Given the description of an element on the screen output the (x, y) to click on. 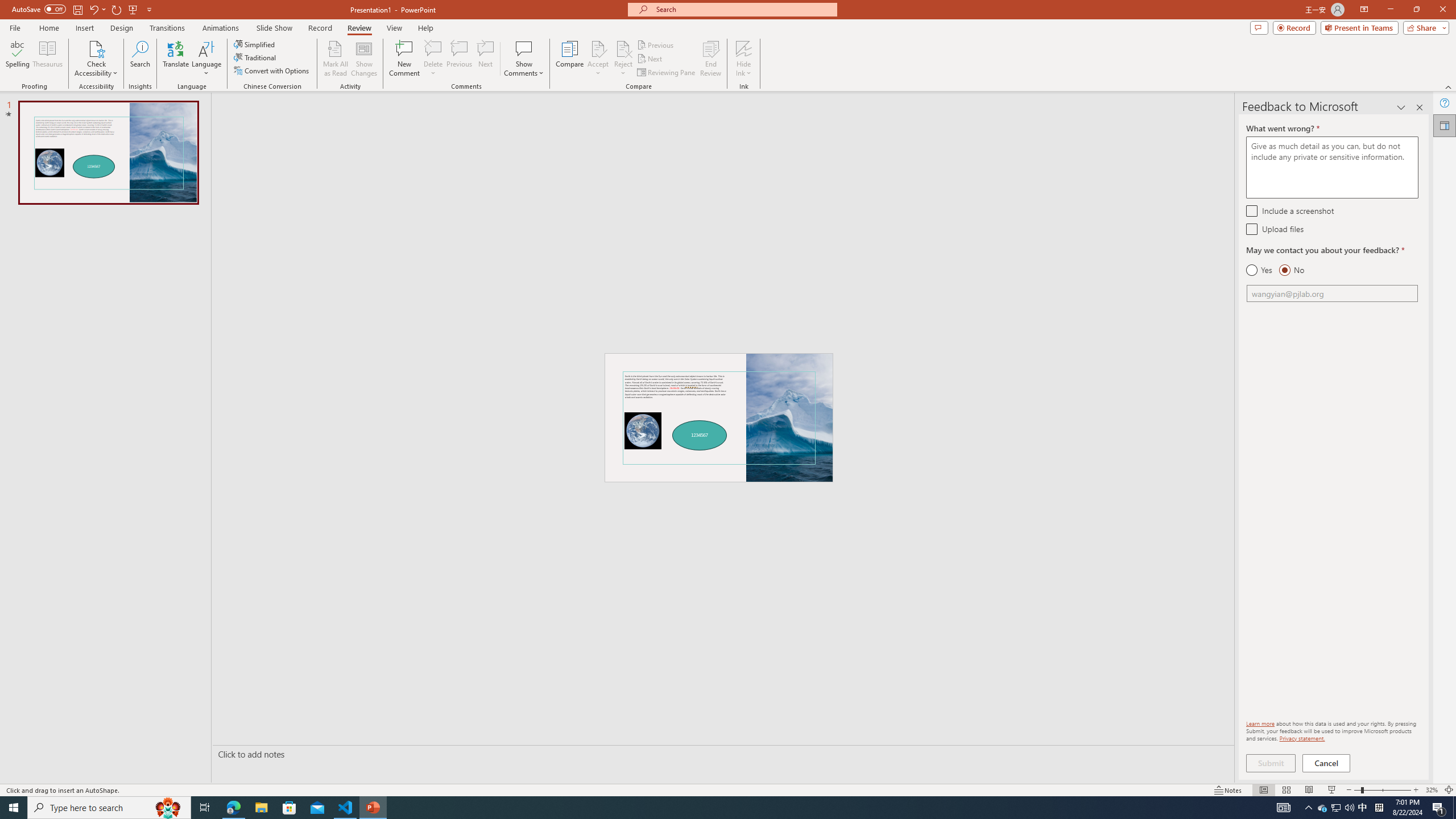
Email (1332, 293)
Reject (622, 58)
Spelling... (17, 58)
Learn more (1260, 723)
Zoom 32% (1431, 790)
Reviewing Pane (666, 72)
